Given the description of an element on the screen output the (x, y) to click on. 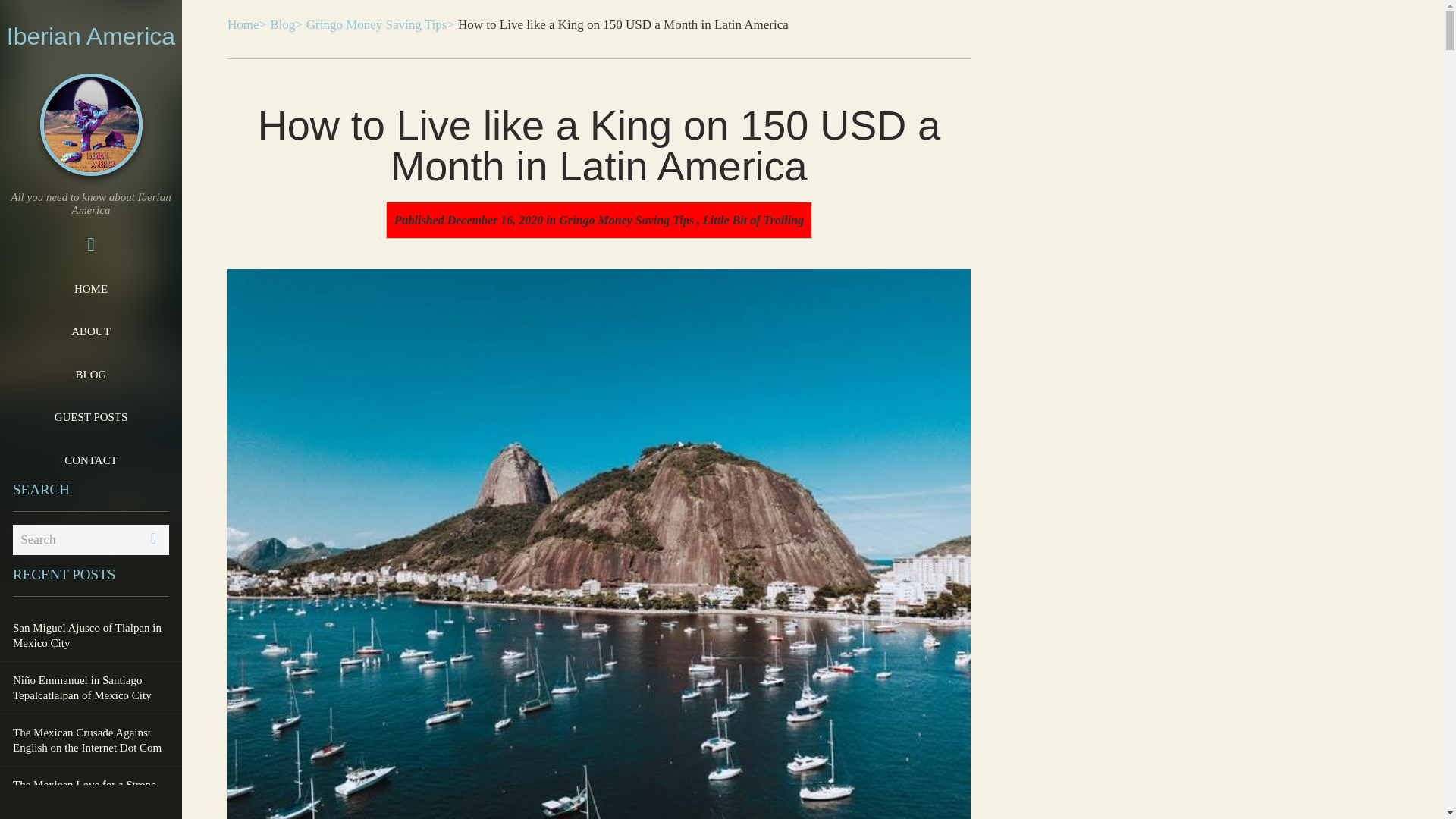
ABOUT (91, 331)
Iberian America (90, 35)
Little Bit of Trolling (753, 219)
HOME (91, 288)
The Mexican Crusade Against English on the Internet Dot Com (90, 739)
CONTACT (91, 459)
GUEST POSTS (91, 416)
Gringo Money Saving Tips (626, 219)
The Mexican Love for a Strong Peso (90, 792)
